Given the description of an element on the screen output the (x, y) to click on. 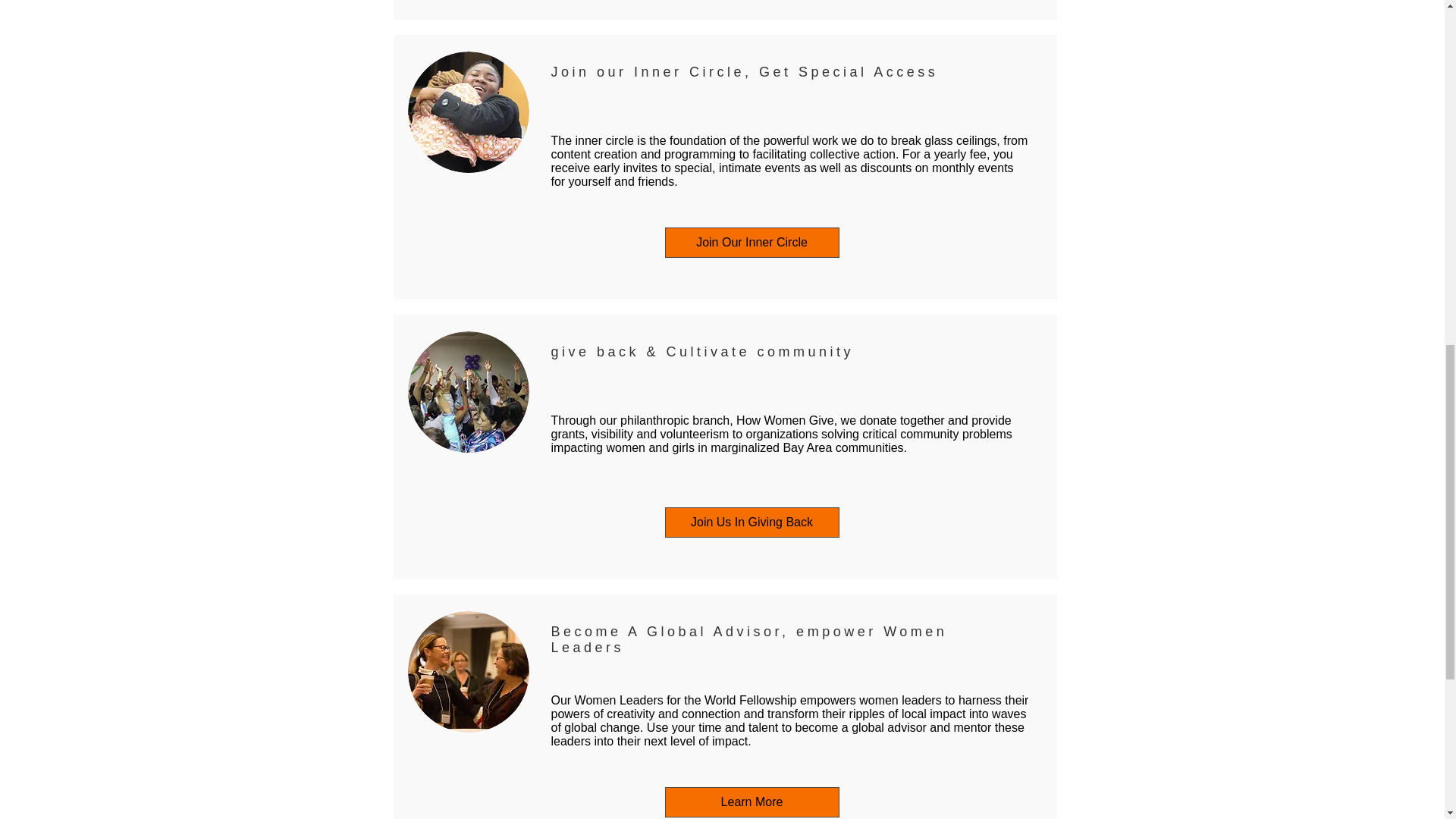
Learn More (750, 802)
Join Us In Giving Back (750, 521)
Join Our Inner Circle (750, 242)
